Given the description of an element on the screen output the (x, y) to click on. 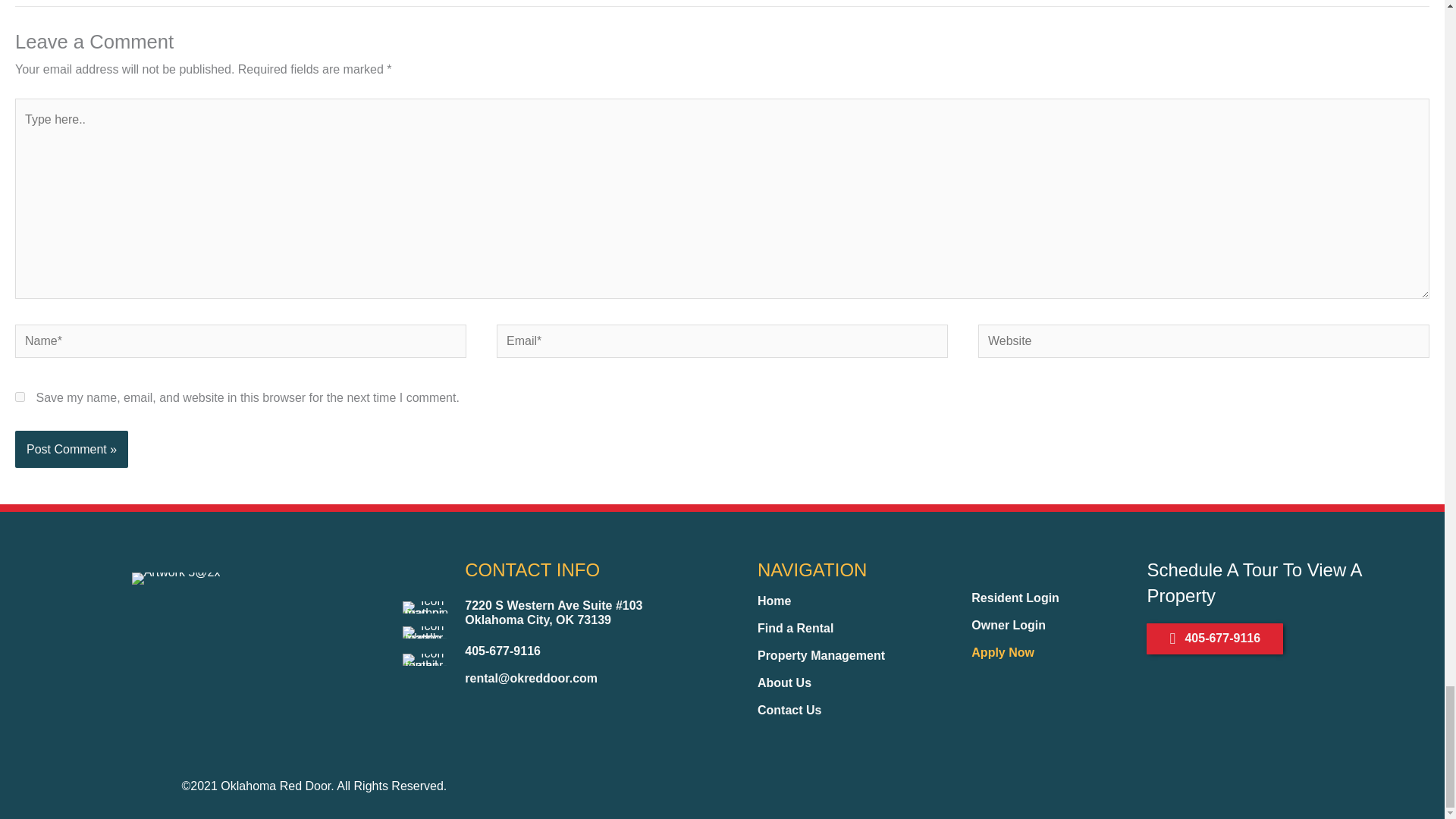
405-677-9116 (502, 650)
Icon feather-mail (426, 659)
Icon feather-phone-call (426, 632)
Icon feather-map-pin (426, 607)
Click Here (1214, 638)
yes (19, 397)
